Given the description of an element on the screen output the (x, y) to click on. 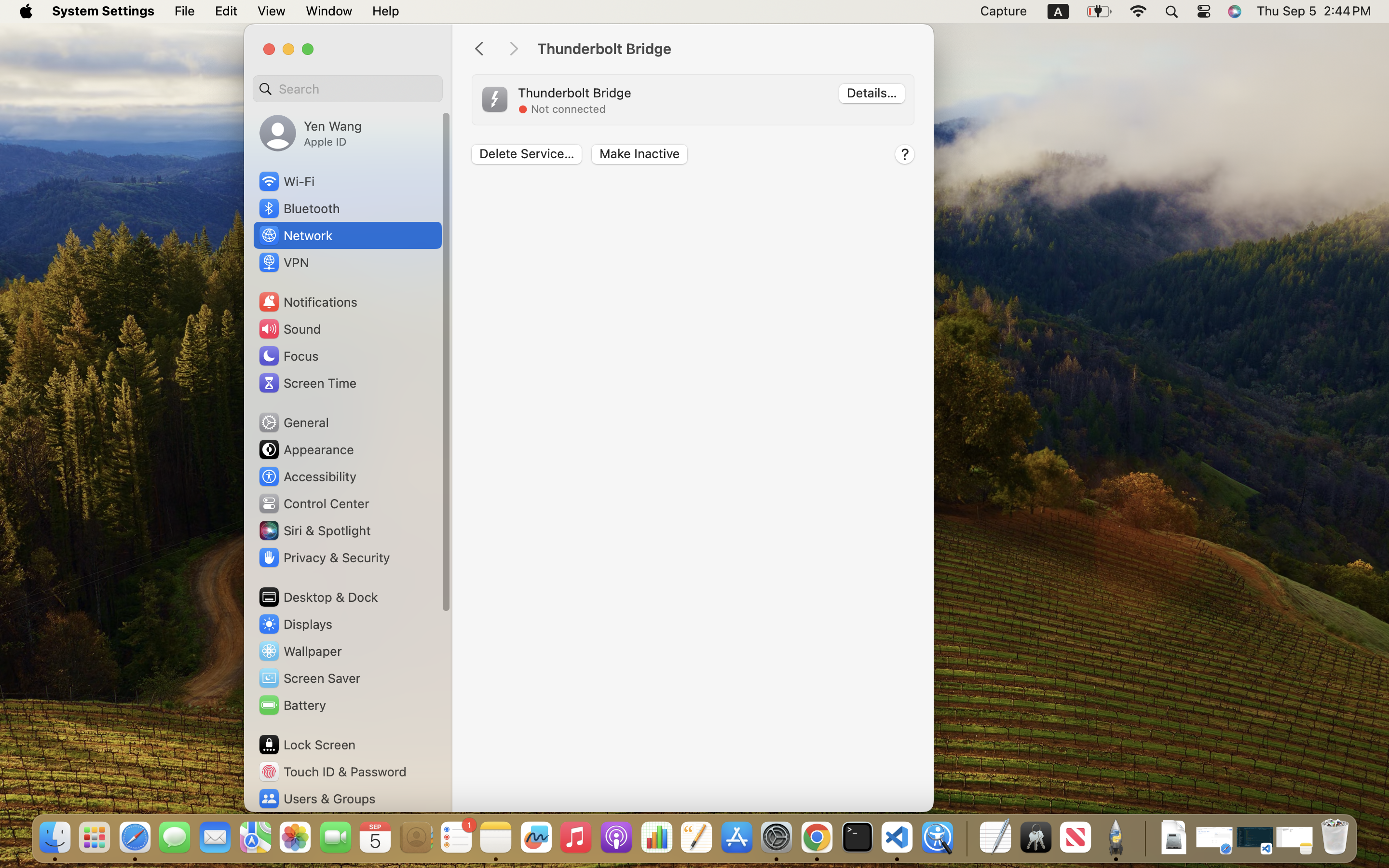
Displays Element type: AXStaticText (294, 623)
Screen Saver Element type: AXStaticText (308, 677)
Siri & Spotlight Element type: AXStaticText (313, 530)
Notifications Element type: AXStaticText (307, 301)
Screen Time Element type: AXStaticText (306, 382)
